Given the description of an element on the screen output the (x, y) to click on. 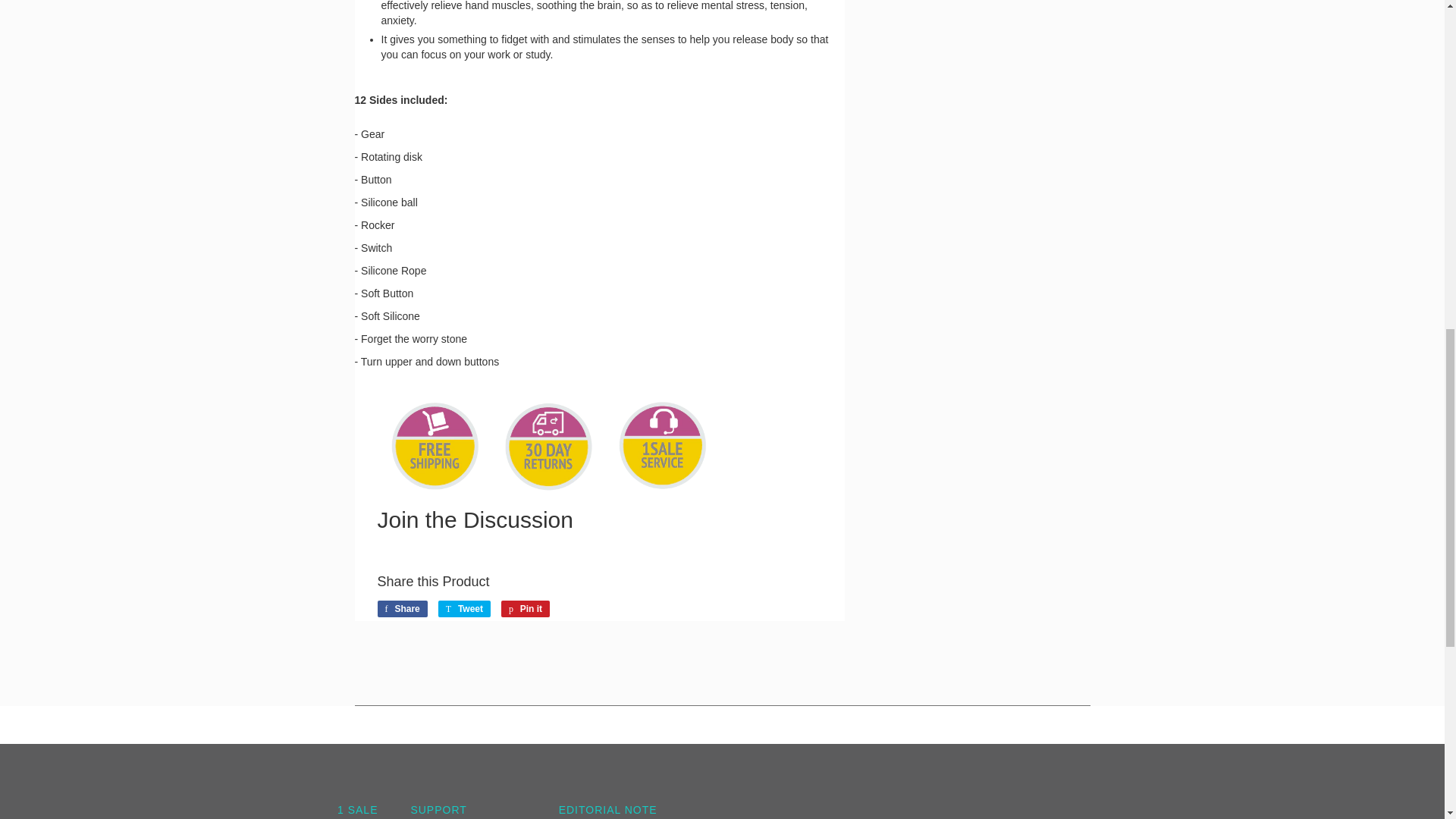
Tweet on Twitter (464, 608)
Pin on Pinterest (525, 608)
Share on Facebook (402, 608)
Advertisement (978, 157)
